Given the description of an element on the screen output the (x, y) to click on. 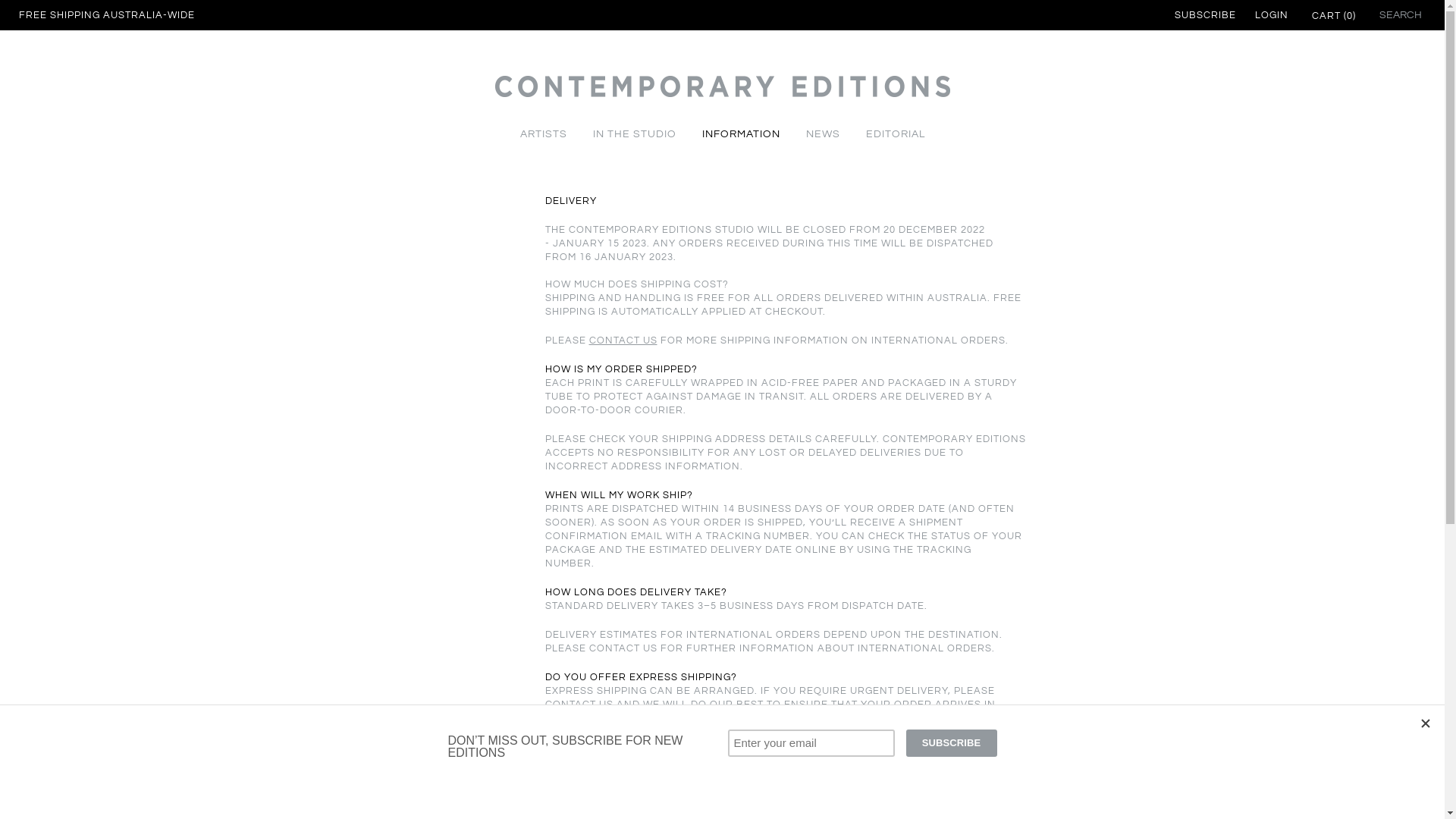
EDITORIAL Element type: text (894, 133)
CART (0) Element type: text (1331, 15)
CONTACT US Element type: text (622, 340)
NEWS Element type: text (822, 133)
SUBSCRIBE Element type: text (1205, 14)
Follow us on Instagram! Element type: hover (1031, 796)
LOGIN Element type: text (1271, 14)
ARTISTS Element type: text (542, 133)
INFORMATION Element type: text (740, 133)
IN THE STUDIO Element type: text (633, 133)
Follow us on Facebook! Element type: hover (1057, 796)
